Given the description of an element on the screen output the (x, y) to click on. 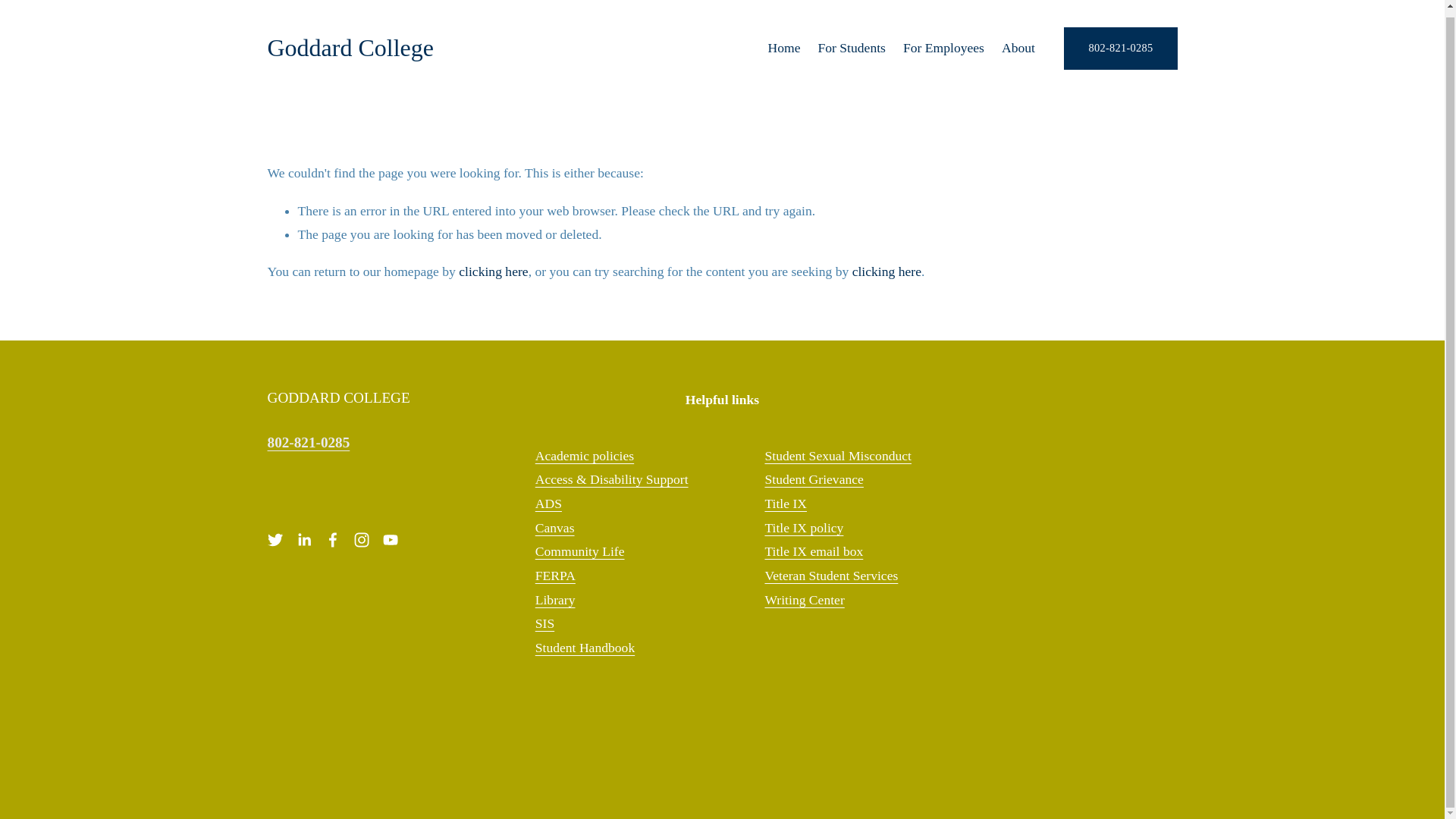
clicking here (492, 271)
Library (555, 600)
For Employees (943, 48)
Title IX (785, 504)
Student Grievance (813, 479)
For Students (850, 48)
Academic policies (584, 456)
Community Life (579, 551)
802-821-0285 (1120, 47)
ADS (548, 504)
Goddard College (349, 47)
Home (783, 48)
About (1018, 48)
Student Handbook (584, 648)
FERPA (555, 576)
